Given the description of an element on the screen output the (x, y) to click on. 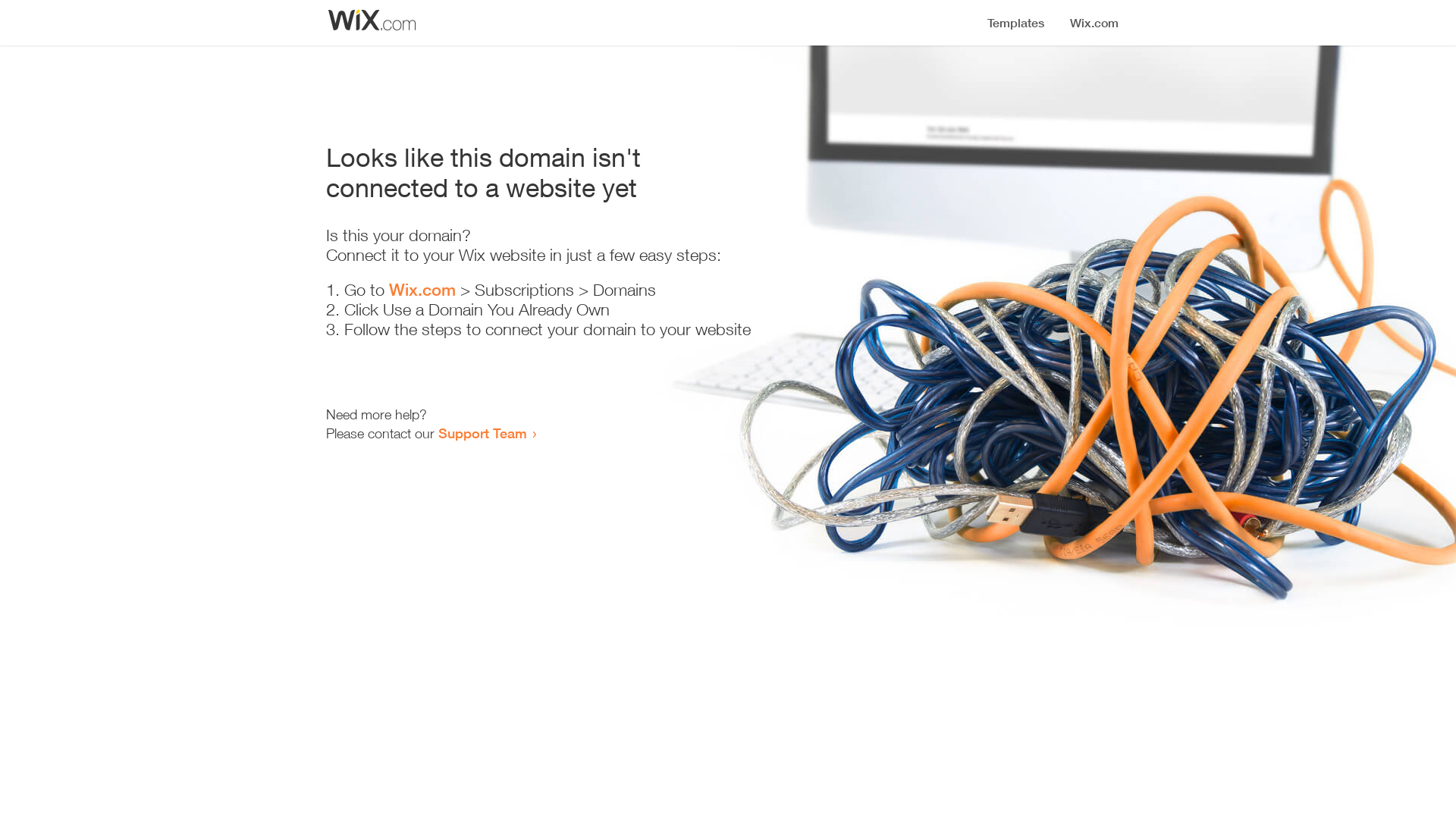
Support Team Element type: text (482, 432)
Wix.com Element type: text (422, 289)
